Given the description of an element on the screen output the (x, y) to click on. 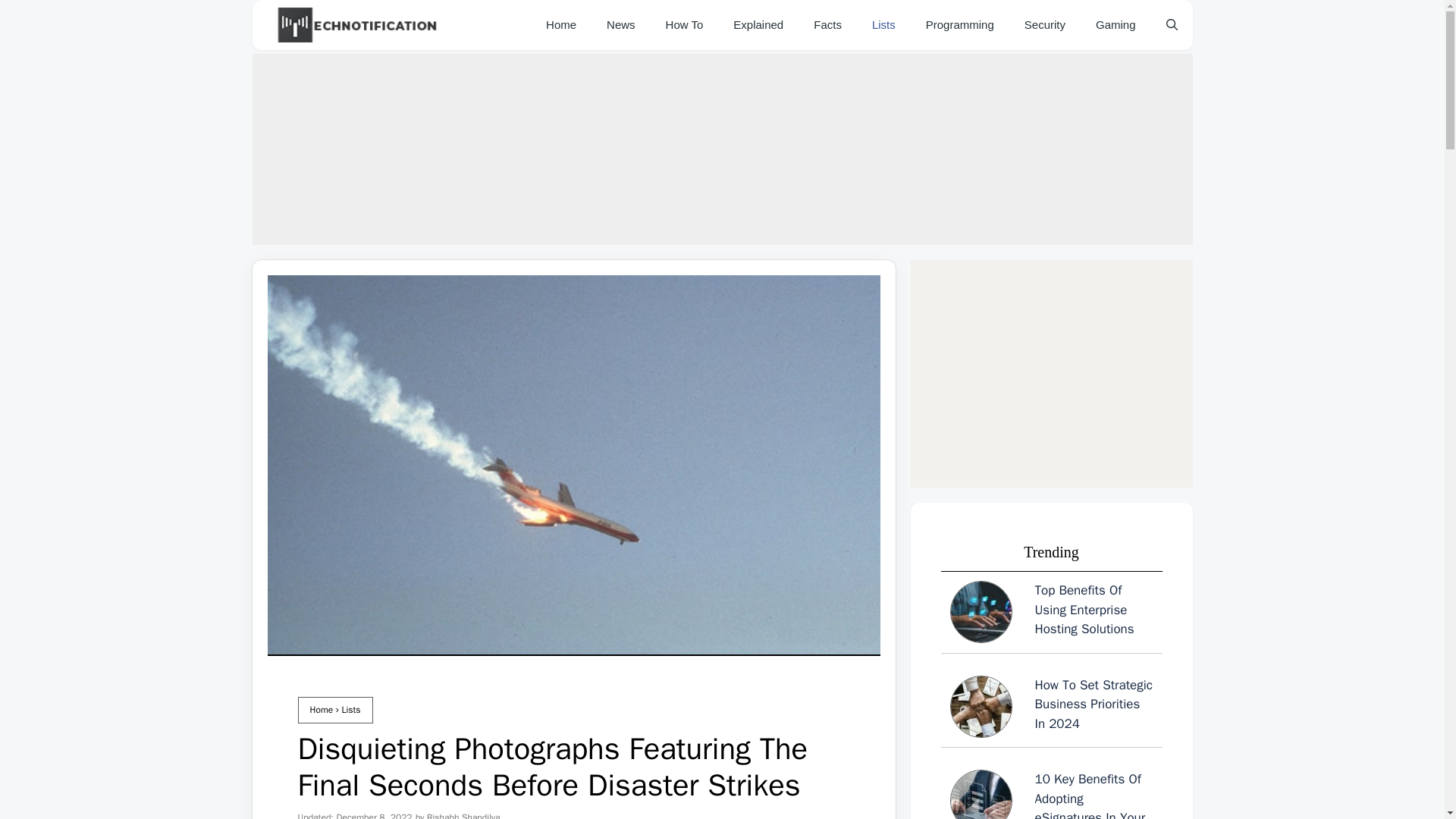
Lists (884, 24)
Top Benefits Of Using Enterprise Hosting Solutions (1051, 614)
Home (320, 709)
How To Set Strategic Business Priorities In 2024 (1051, 708)
Technotification (358, 24)
Facts (827, 24)
Programming (960, 24)
Home (561, 24)
Top Lists (884, 24)
View all posts by Rishabh Shandilya (463, 815)
